Given the description of an element on the screen output the (x, y) to click on. 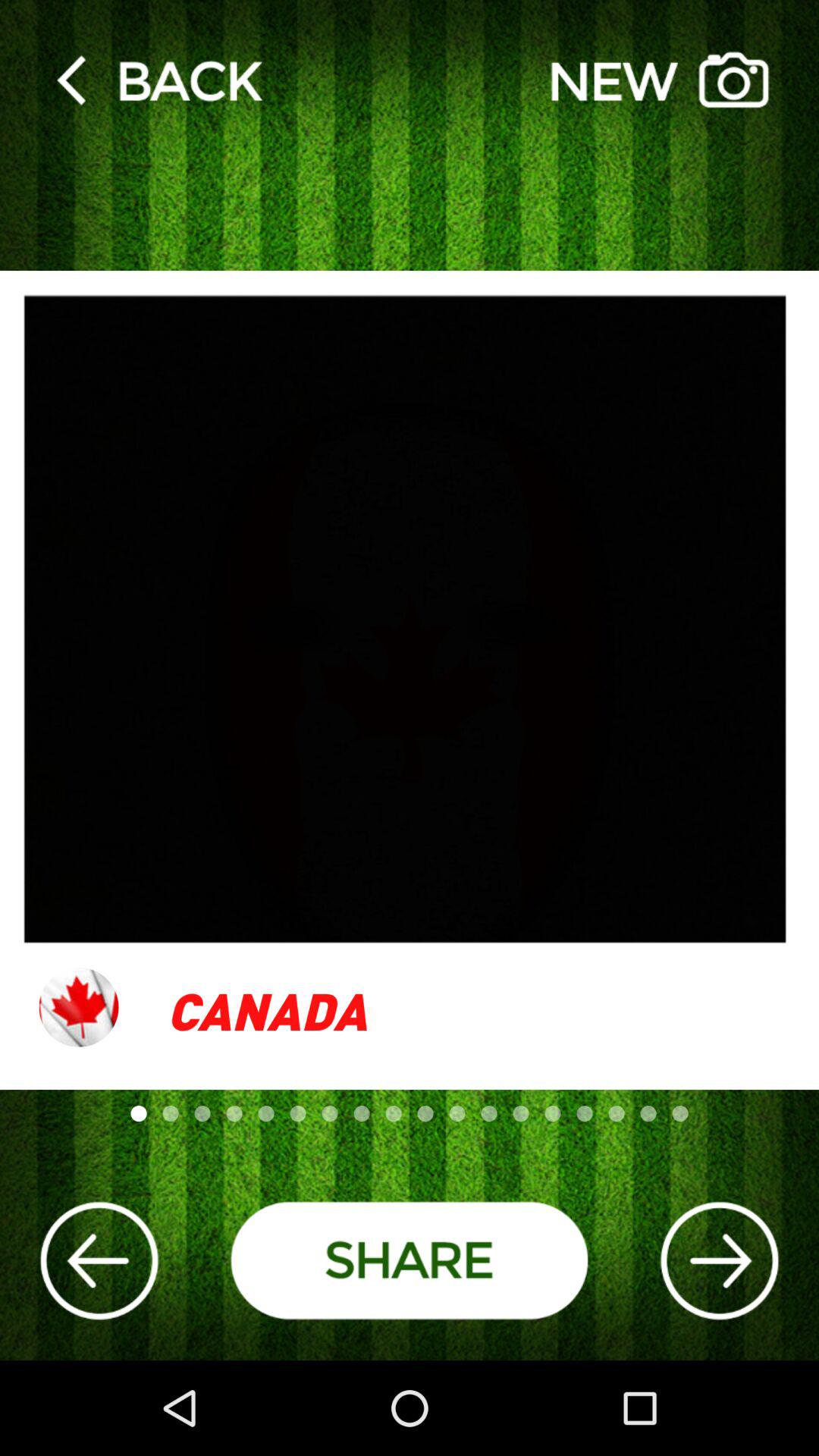
go next (719, 1260)
